Given the description of an element on the screen output the (x, y) to click on. 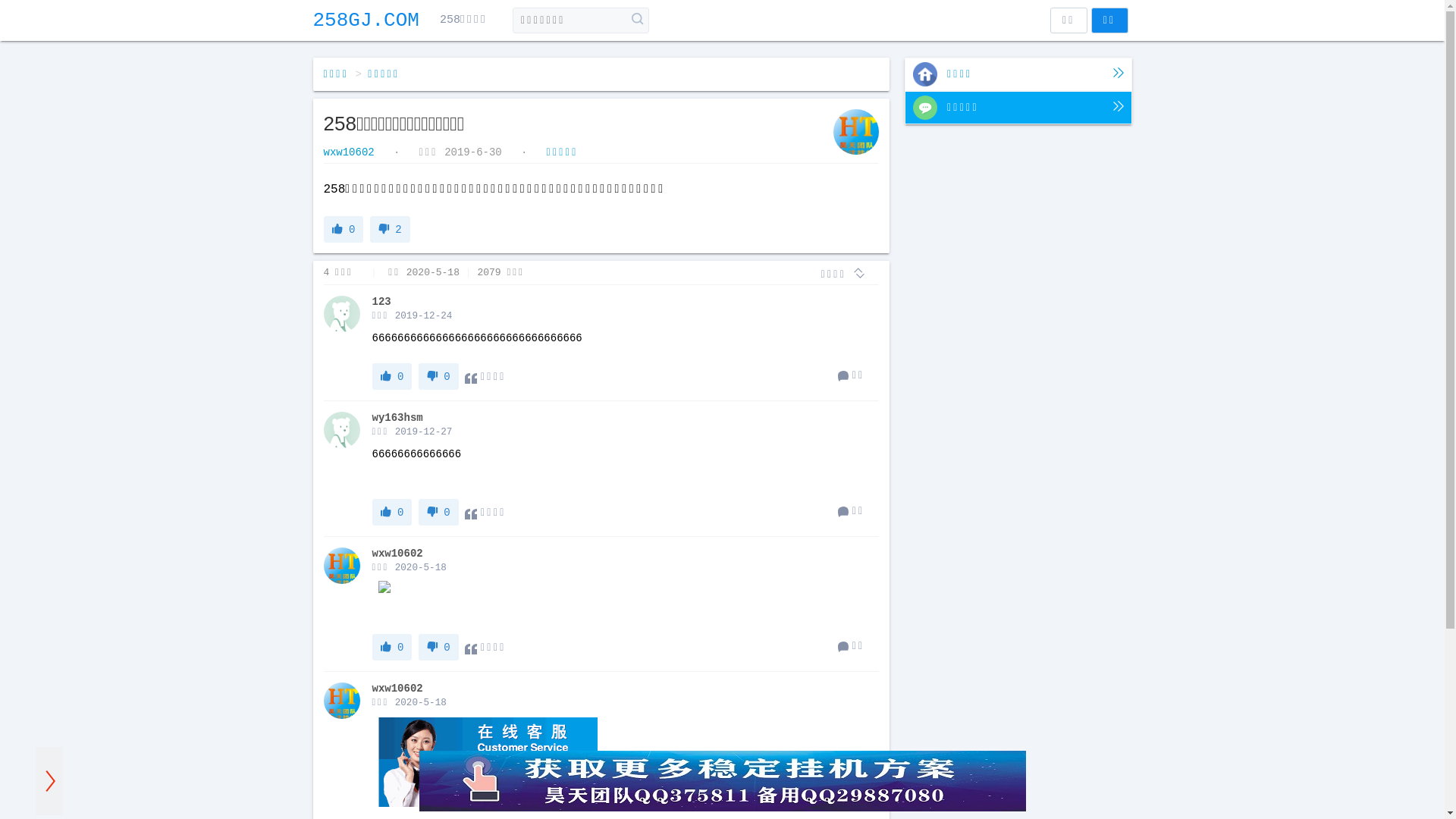
0 Element type: text (343, 229)
wy163hsm Element type: text (396, 417)
0 Element type: text (438, 646)
123 Element type: text (380, 301)
258GJ.COM Element type: text (365, 20)
0 Element type: text (438, 511)
0 Element type: text (391, 376)
0 Element type: text (391, 511)
2 Element type: text (390, 229)
0 Element type: text (438, 376)
0 Element type: text (391, 646)
wxw10602 Element type: text (396, 553)
wxw10602 Element type: text (351, 152)
wxw10602 Element type: text (396, 688)
